Given the description of an element on the screen output the (x, y) to click on. 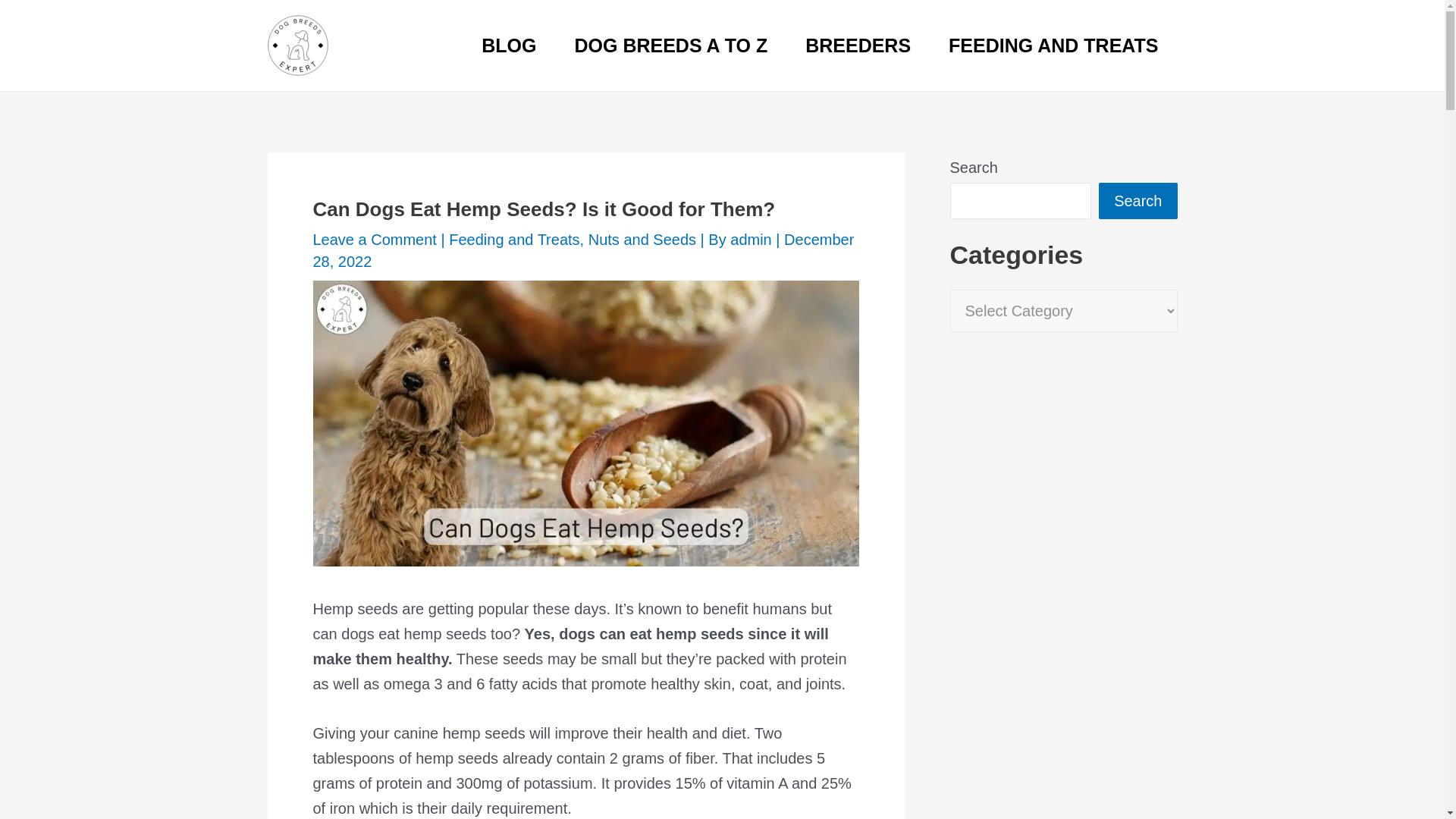
Nuts and Seeds (641, 239)
BLOG (508, 45)
View all posts by admin (753, 239)
Leave a Comment (374, 239)
BREEDERS (858, 45)
DOG BREEDS A TO Z (671, 45)
Feeding and Treats (513, 239)
FEEDING AND TREATS (1053, 45)
admin (753, 239)
